Given the description of an element on the screen output the (x, y) to click on. 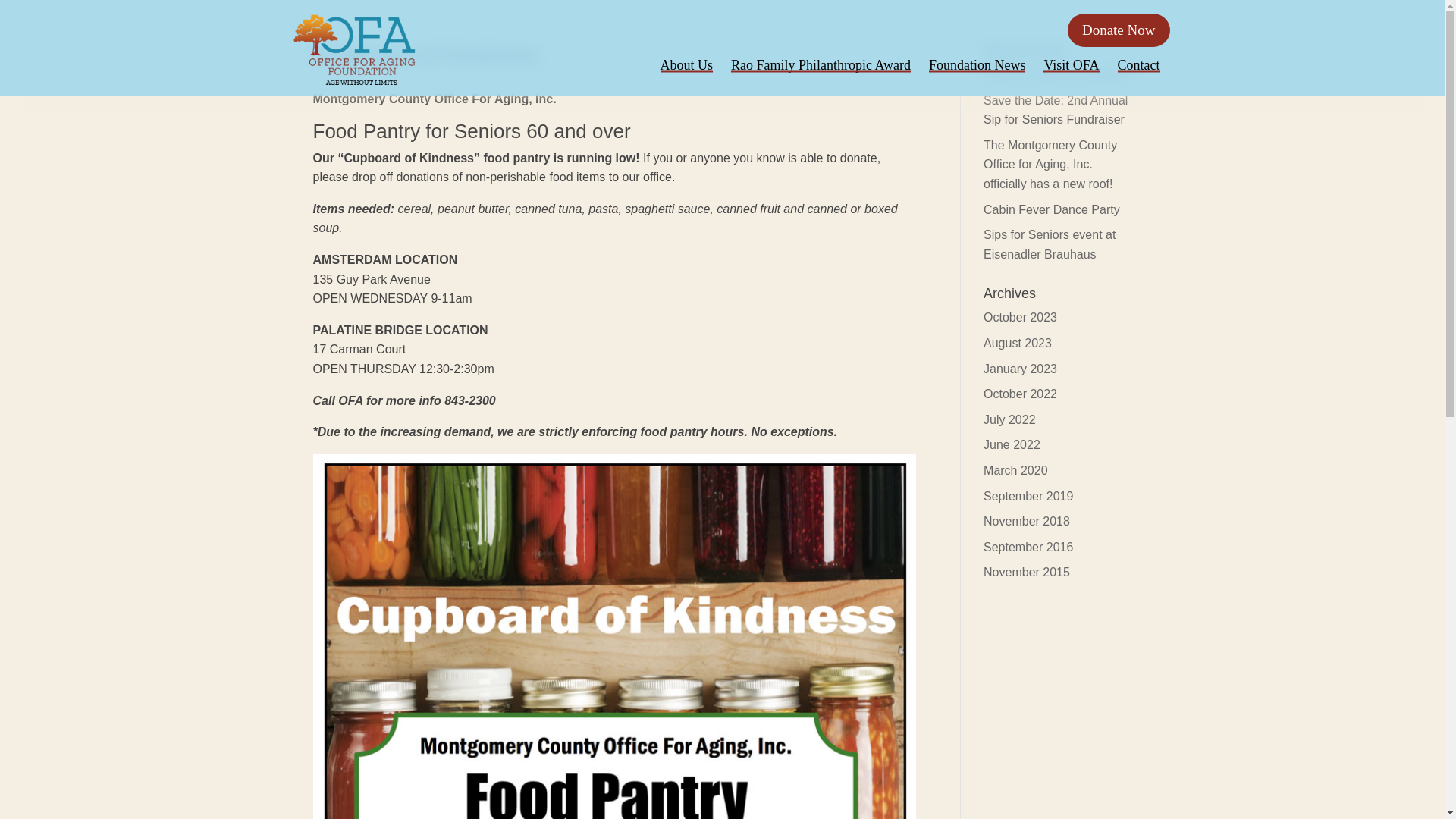
Contact						 (1139, 65)
September 2016 (1028, 546)
Save the Date: 2nd Annual Sip for Seniors Fundraiser (1055, 110)
October 2023 (1020, 317)
Sips for Seniors event at Eisenadler Brauhaus (1049, 244)
About Us				 (687, 65)
March 2020 (1016, 470)
About Us (687, 65)
November 2018 (1027, 521)
Foundation News (977, 65)
November 2015 (1027, 571)
October 2022 (1020, 393)
August 2023 (1017, 342)
Rao Family Philanthropic Award (820, 65)
